Given the description of an element on the screen output the (x, y) to click on. 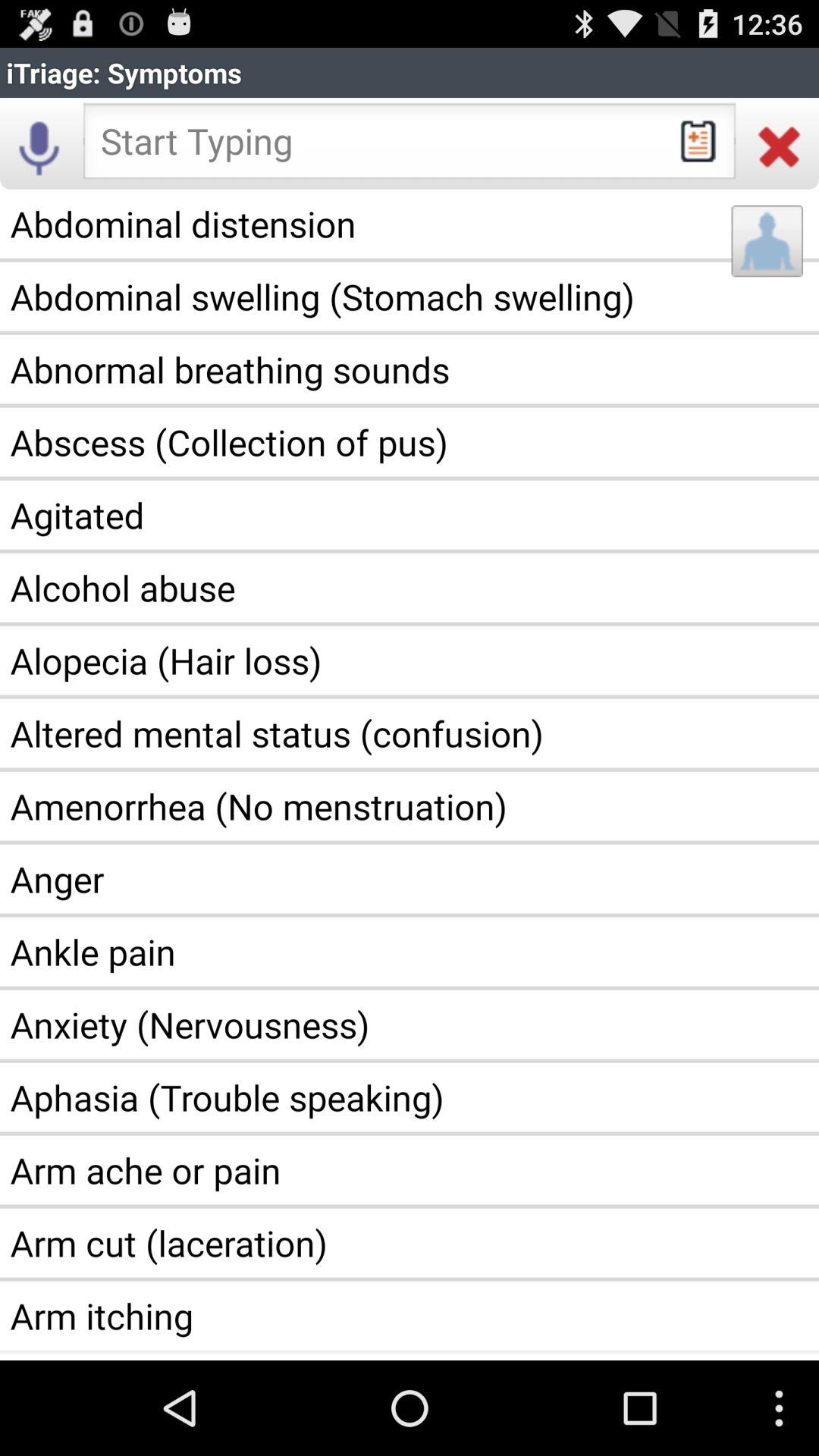
select the icon below anger item (409, 951)
